Given the description of an element on the screen output the (x, y) to click on. 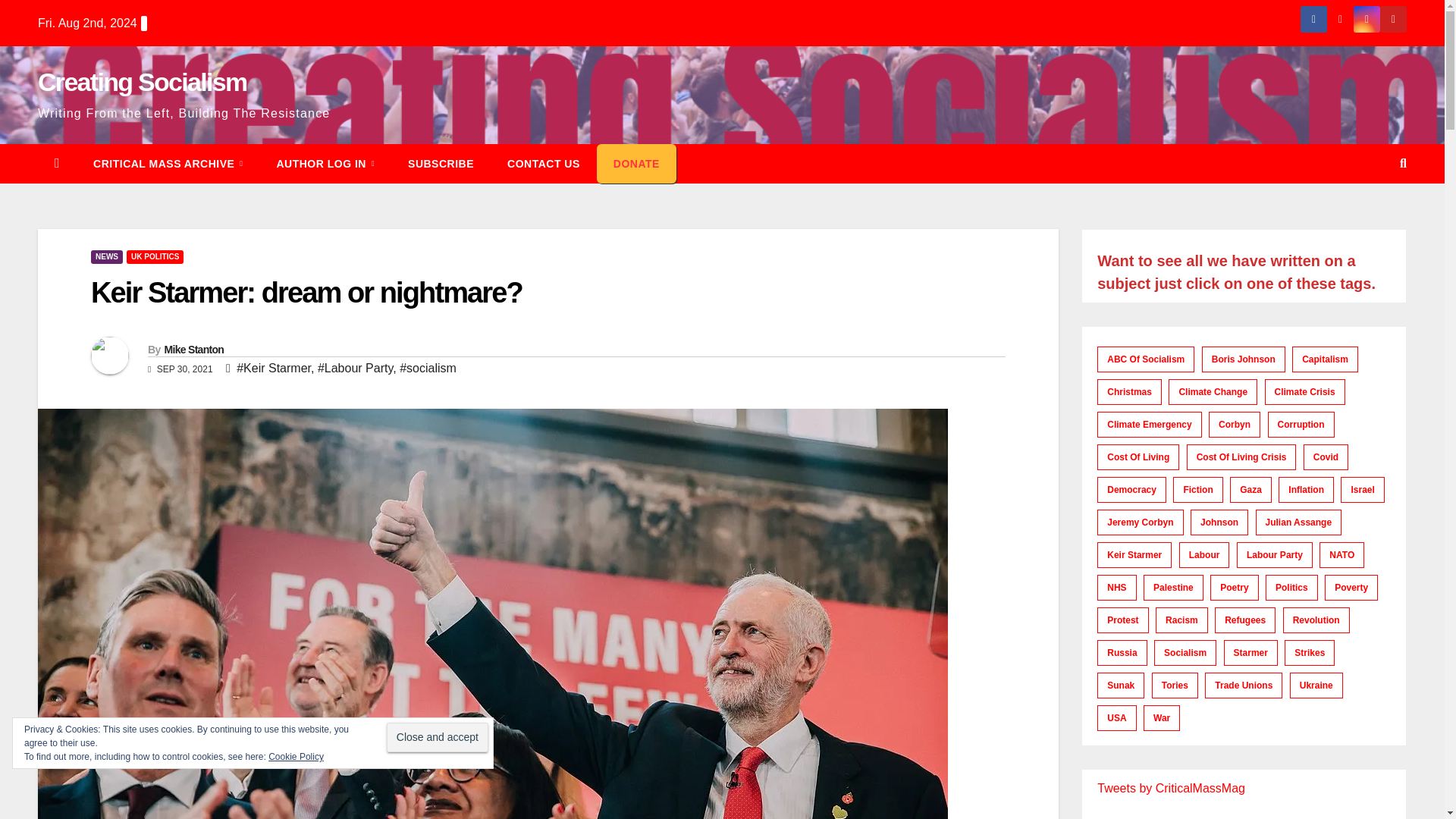
AUTHOR LOG IN (325, 163)
Keir Starmer: dream or nightmare? (306, 292)
CONTACT US (543, 163)
CRITICAL MASS ARCHIVE (168, 163)
NEWS (106, 256)
Critical Mass Archive (168, 163)
Close and accept (437, 737)
SUBSCRIBE (440, 163)
UK POLITICS (154, 256)
DONATE (636, 163)
Creating Socialism (142, 81)
